Given the description of an element on the screen output the (x, y) to click on. 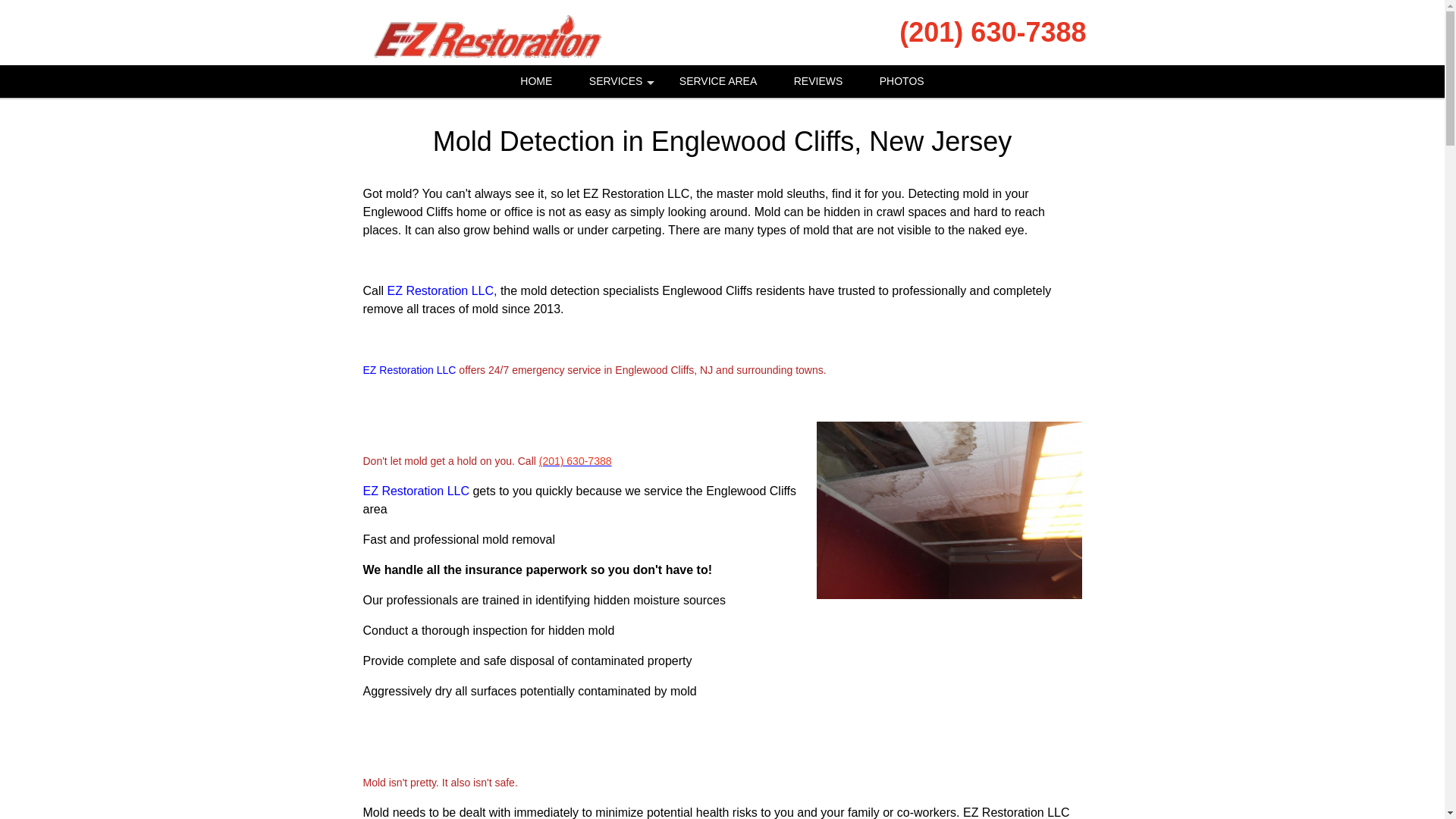
HOME (536, 81)
REVIEWS (818, 81)
PHOTOS (901, 81)
SERVICE AREA (717, 81)
